Given the description of an element on the screen output the (x, y) to click on. 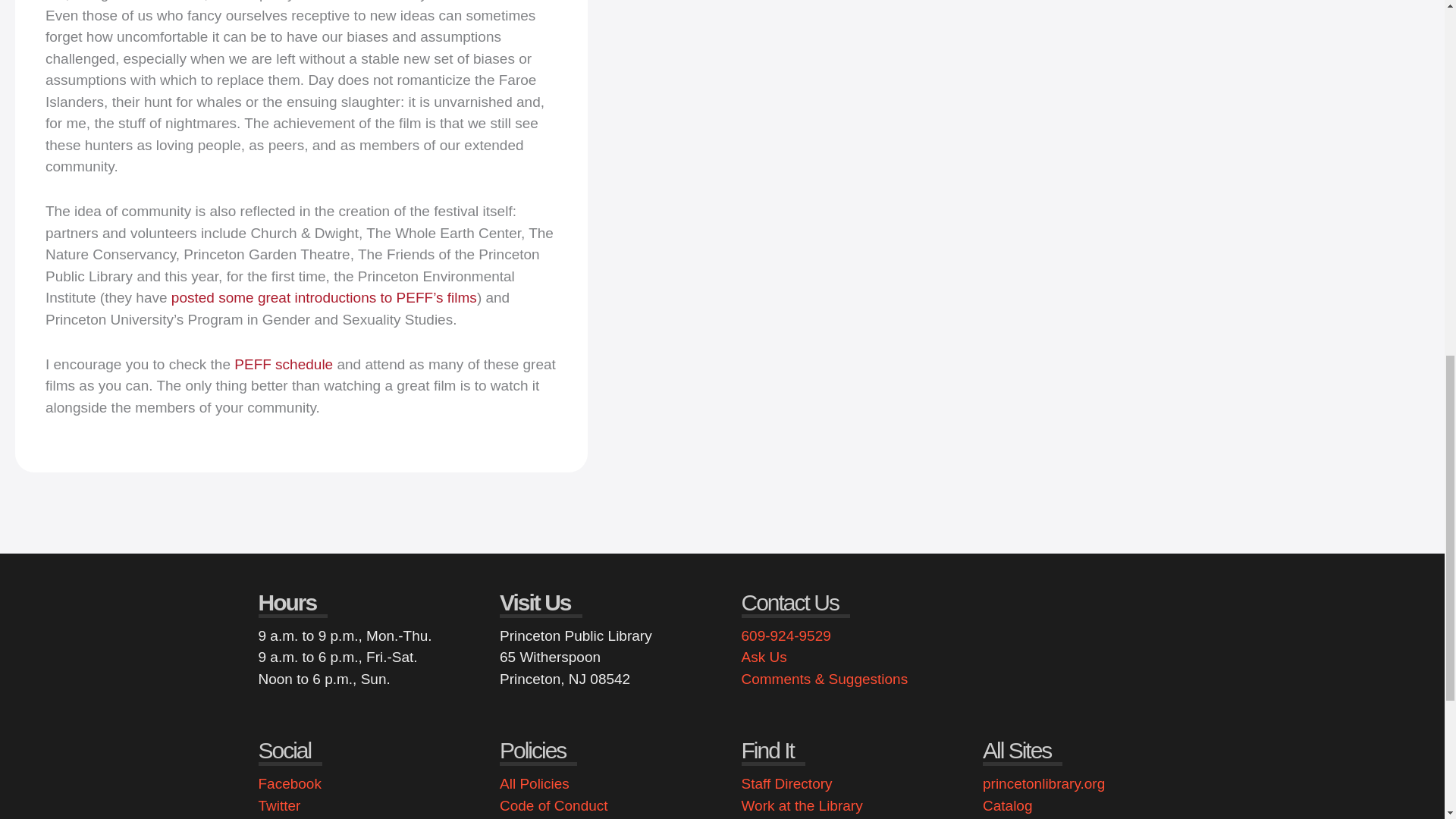
PEFF schedule (283, 364)
